Given the description of an element on the screen output the (x, y) to click on. 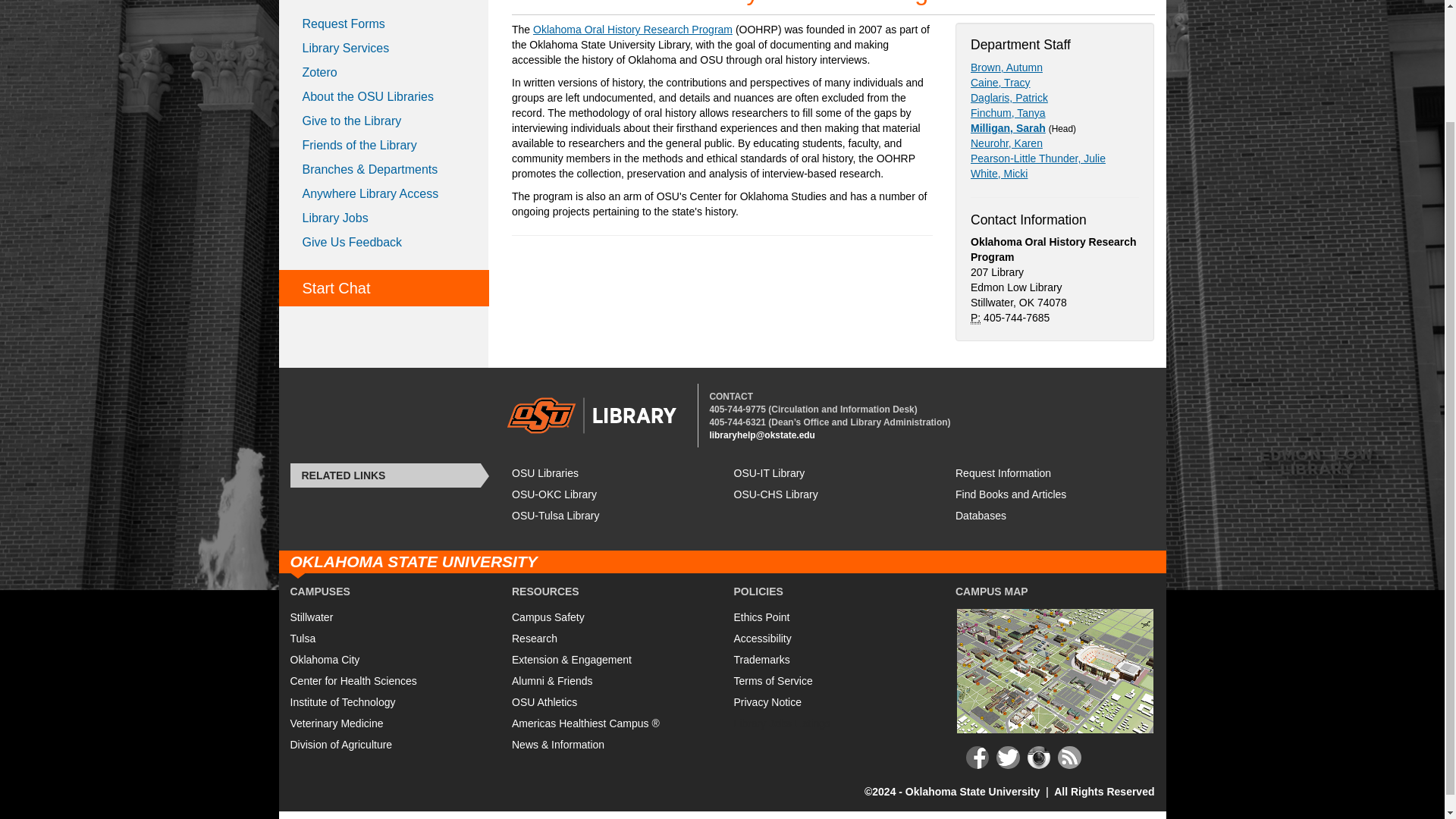
Library Jobs (384, 218)
Anywhere Library Access (384, 193)
Friends of the Library (384, 145)
About the OSU Libraries (384, 96)
Give to  the Library (384, 120)
Give Us Feedback (384, 242)
Call with Google Voice (737, 421)
Call with Google Voice (737, 409)
Request Forms (384, 24)
Zotero (384, 72)
